Given the description of an element on the screen output the (x, y) to click on. 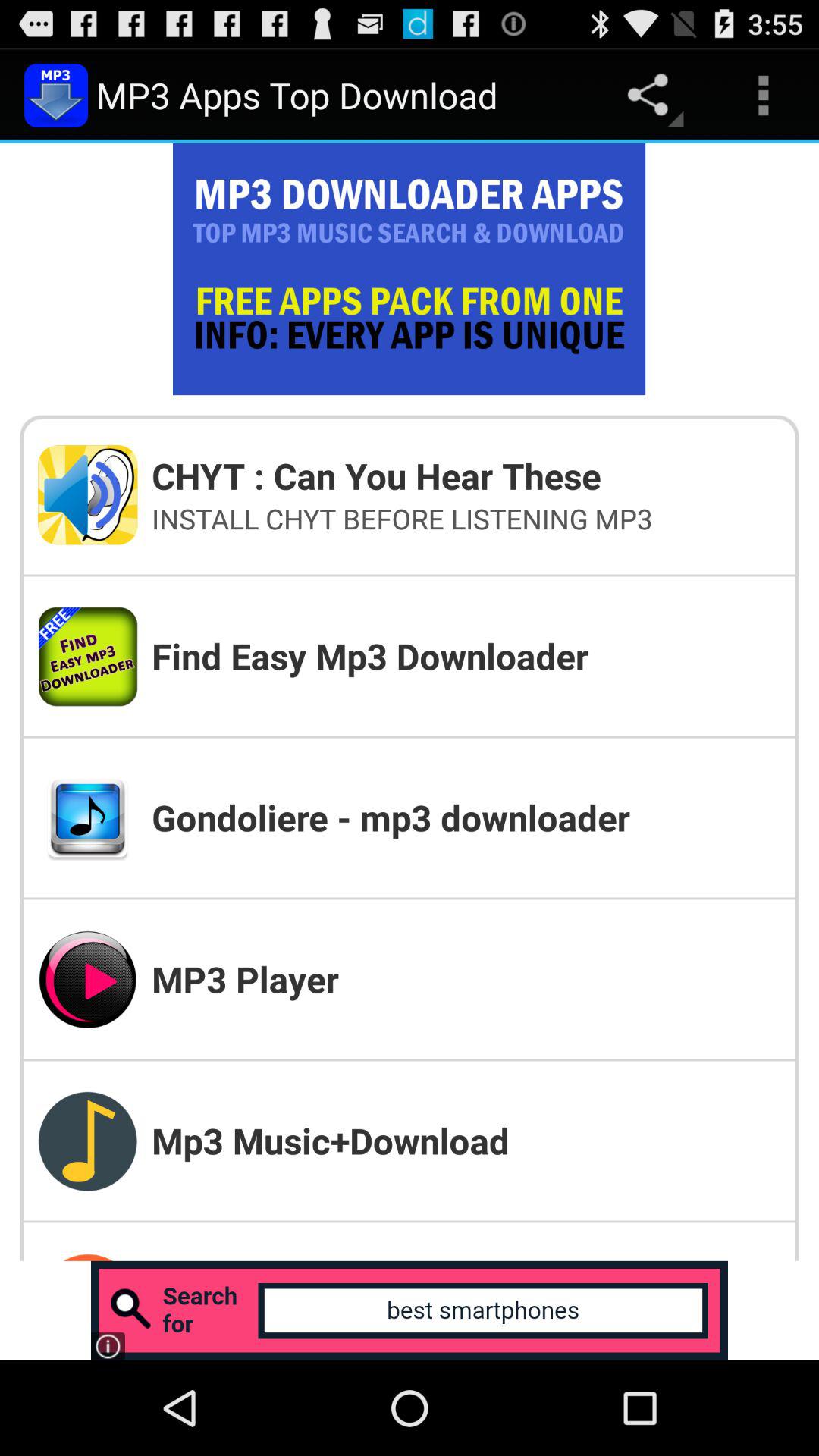
turn off find easy mp3 (465, 655)
